Given the description of an element on the screen output the (x, y) to click on. 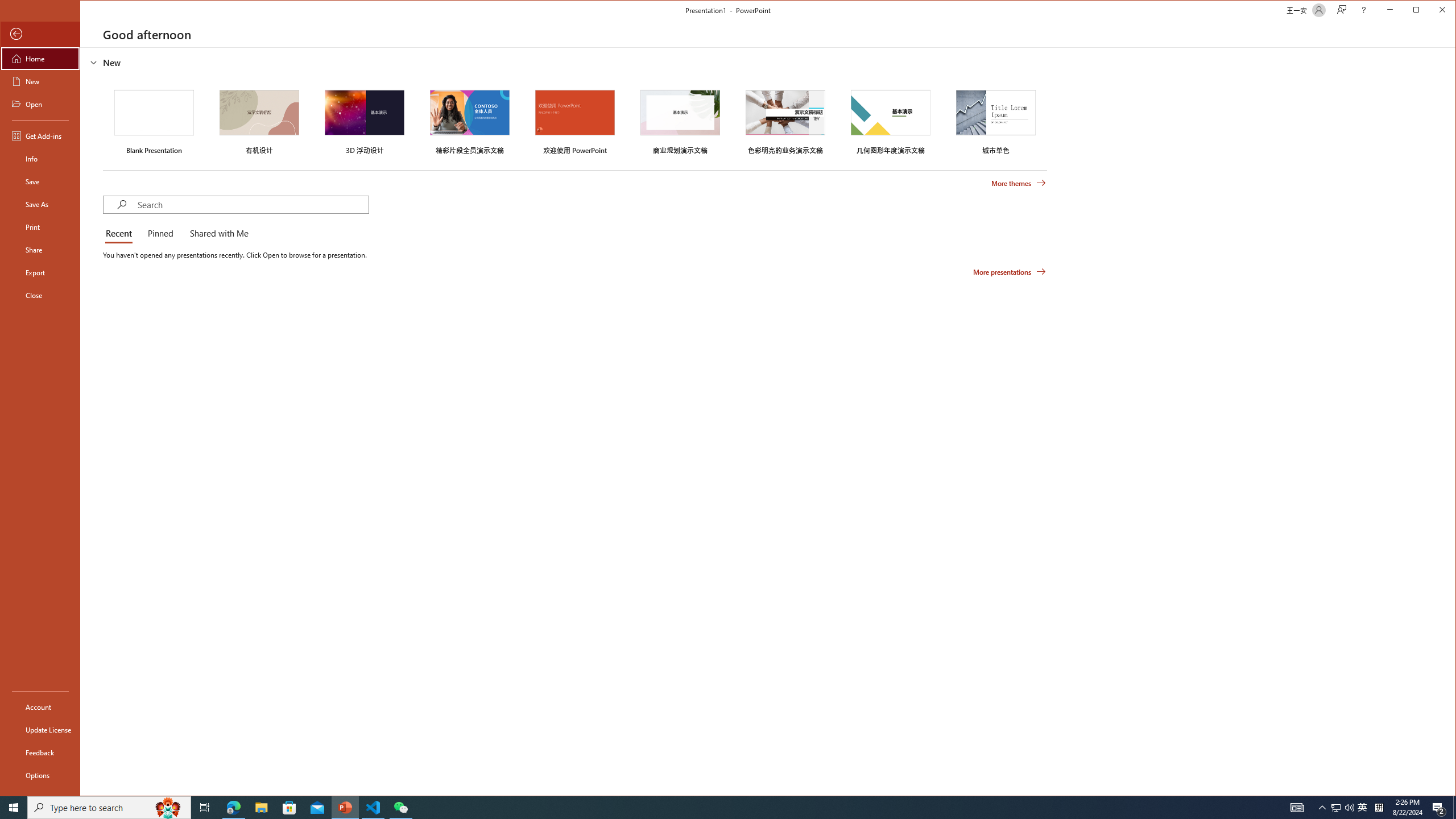
Show desktop (1454, 807)
Class: NetUIScrollBar (1450, 421)
Shared with Me (216, 234)
Feedback (40, 752)
PowerPoint - 1 running window (345, 807)
Blank Presentation (1362, 807)
Export (154, 119)
File Explorer (40, 272)
